Given the description of an element on the screen output the (x, y) to click on. 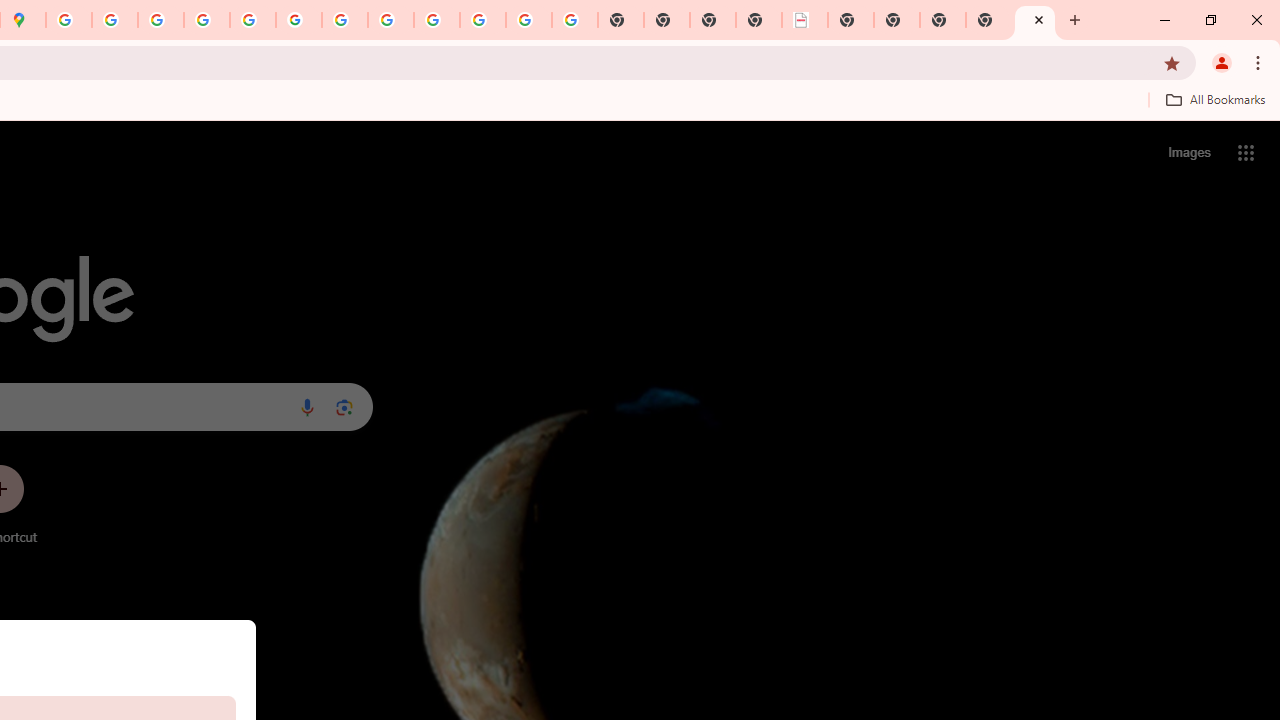
Privacy Help Center - Policies Help (207, 20)
Browse Chrome as a guest - Computer - Google Chrome Help (390, 20)
Privacy Help Center - Policies Help (161, 20)
All Bookmarks (1215, 99)
New Tab (989, 20)
